Given the description of an element on the screen output the (x, y) to click on. 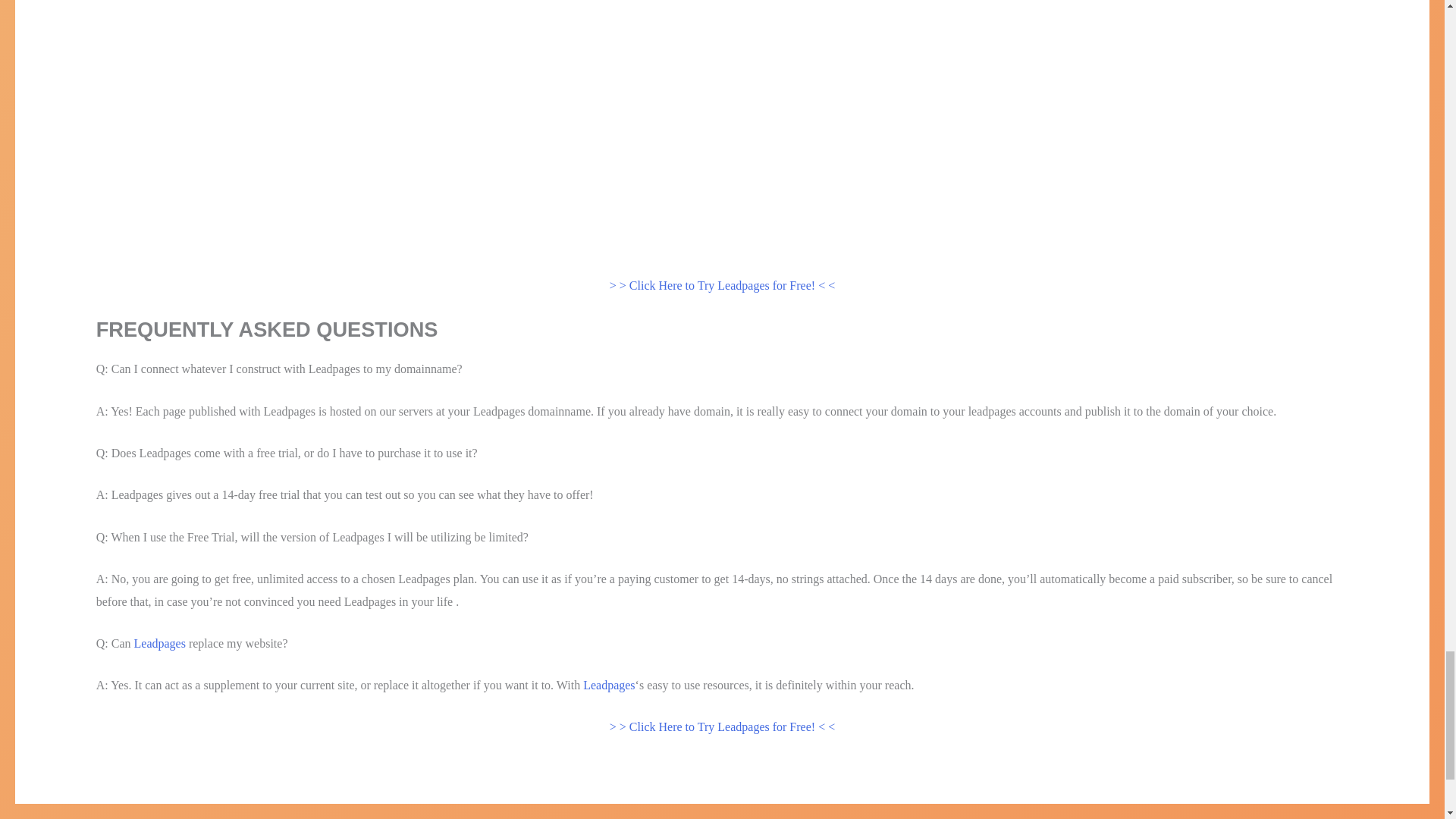
Leadpages (158, 643)
Leadpages (608, 684)
